Given the description of an element on the screen output the (x, y) to click on. 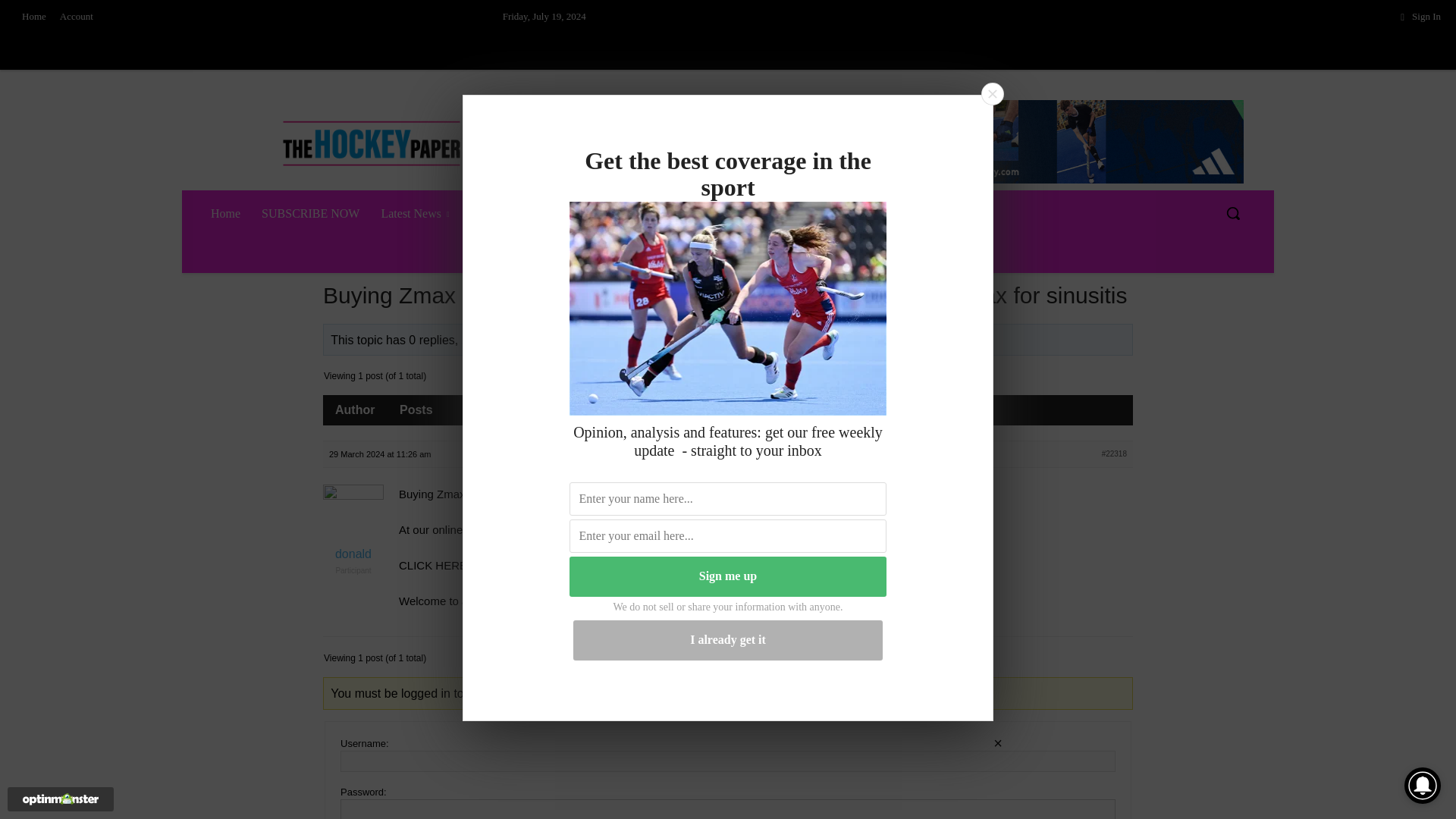
Home (33, 16)
View donald's profile (798, 339)
Account (76, 16)
